Given the description of an element on the screen output the (x, y) to click on. 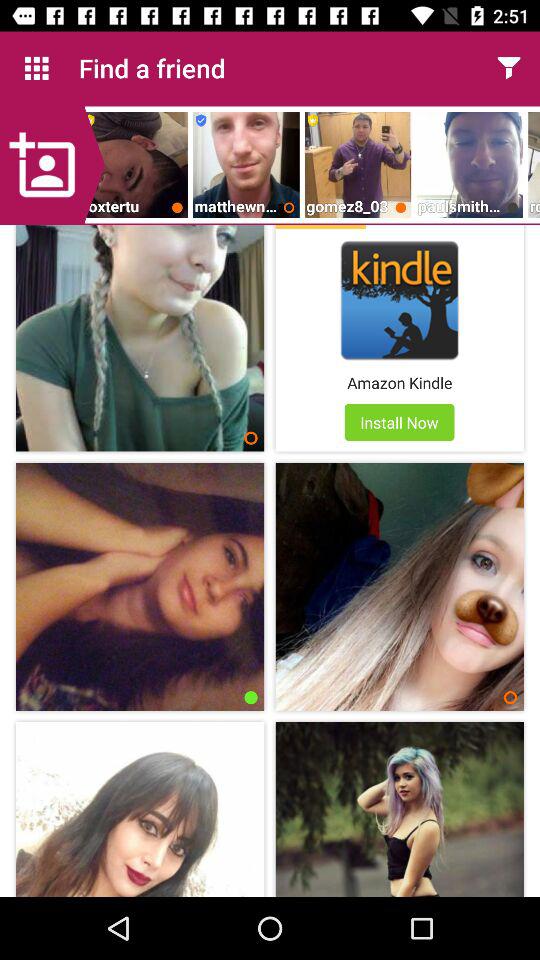
click add option (52, 165)
